Given the description of an element on the screen output the (x, y) to click on. 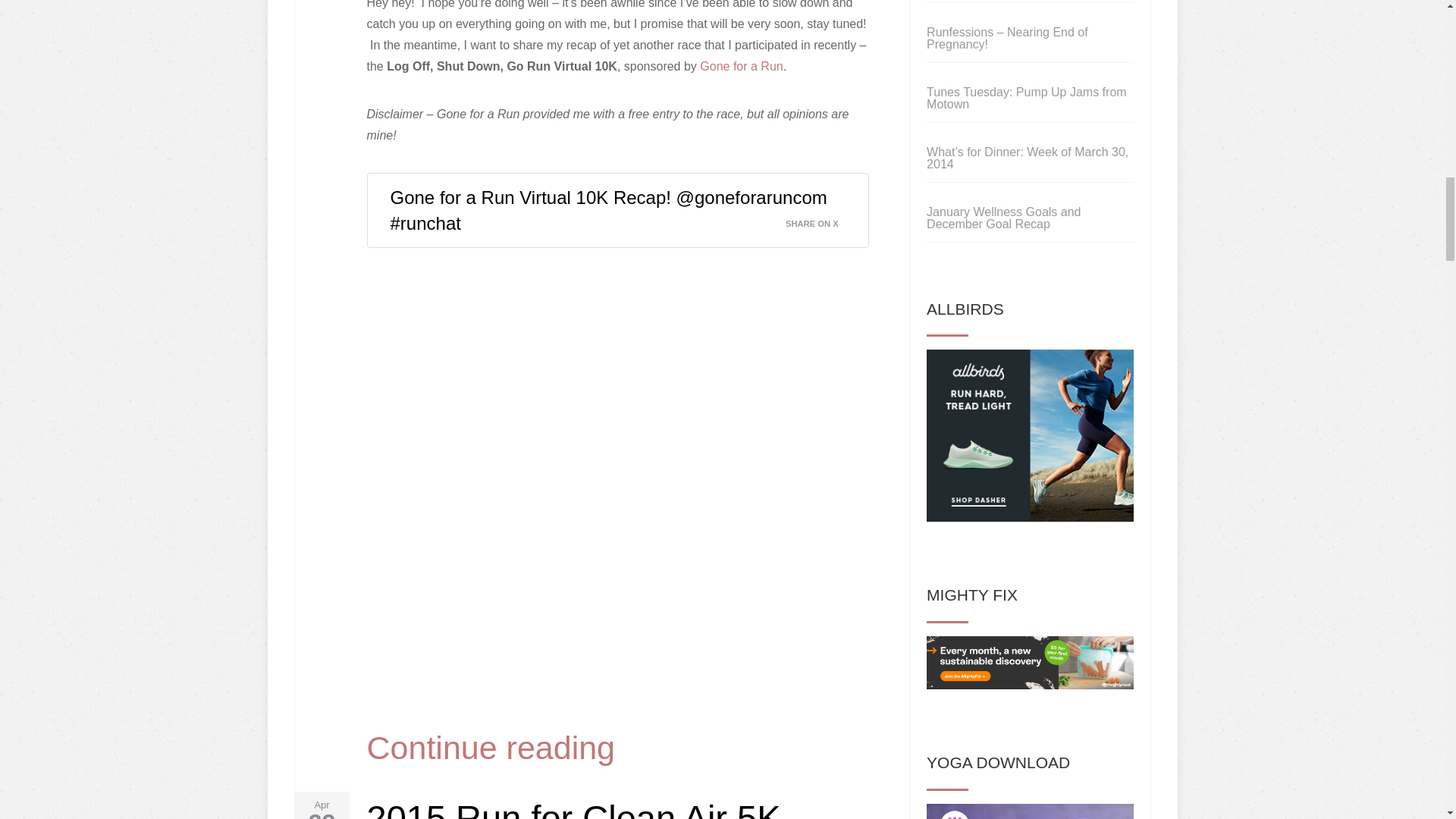
Gone for a Run (741, 65)
SHARE ON X (821, 219)
2015 Run for Clean Air 5K Recap (573, 808)
Continue reading (490, 747)
